Given the description of an element on the screen output the (x, y) to click on. 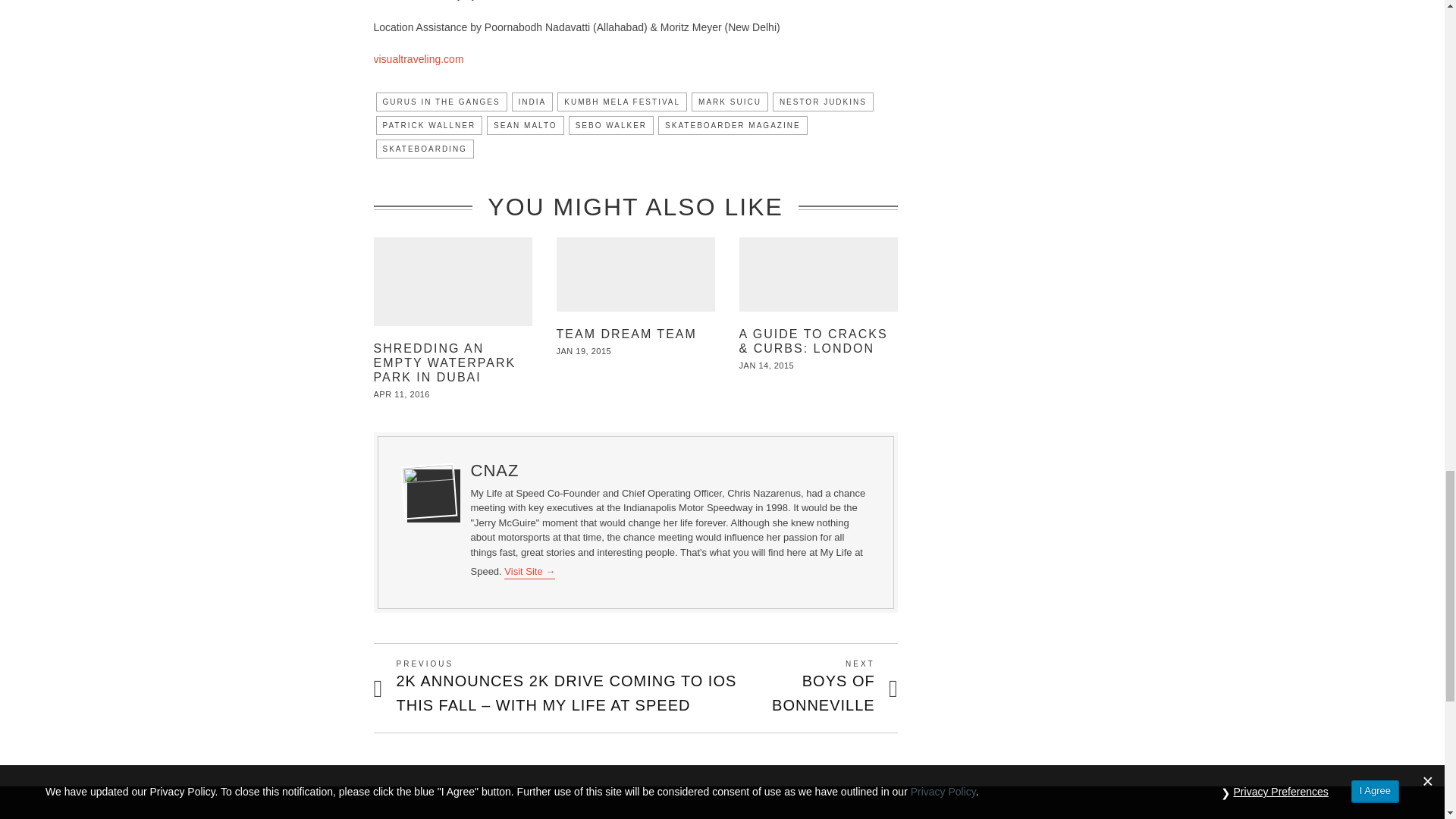
GURUS IN THE GANGES (440, 101)
TEAM DREAM TEAM (626, 333)
Jan 19, 2015 (583, 350)
PATRICK WALLNER (429, 125)
SHREDDING AN EMPTY WATERPARK PARK IN DUBAI (443, 363)
KUMBH MELA FESTIVAL (622, 101)
SKATEBOARDING (424, 148)
Jan 14, 2015 (766, 365)
